Given the description of an element on the screen output the (x, y) to click on. 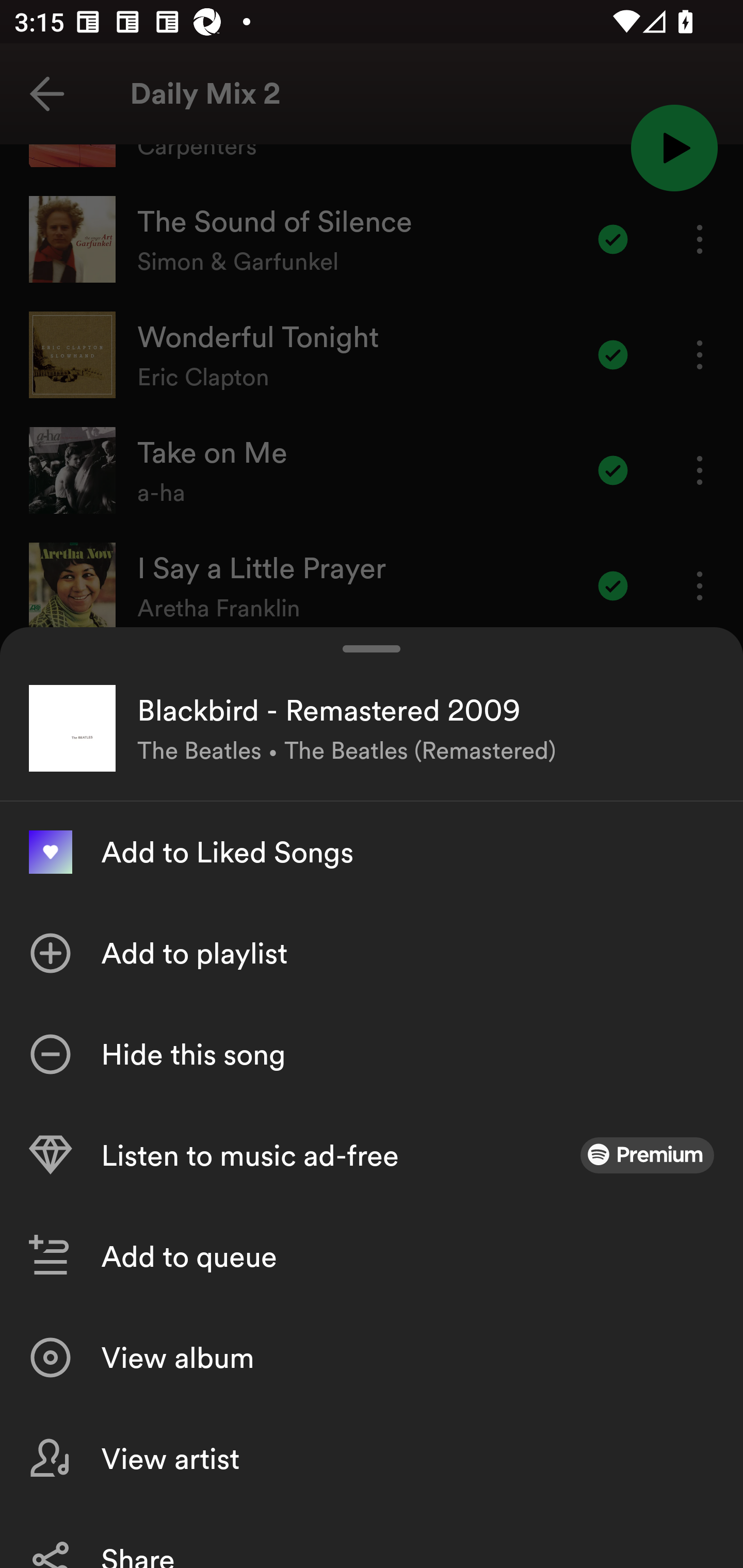
Add to Liked Songs (371, 852)
Add to playlist (371, 953)
Hide this song (371, 1054)
Listen to music ad-free (371, 1155)
Add to queue (371, 1256)
View album (371, 1357)
View artist (371, 1458)
Share (371, 1538)
